Given the description of an element on the screen output the (x, y) to click on. 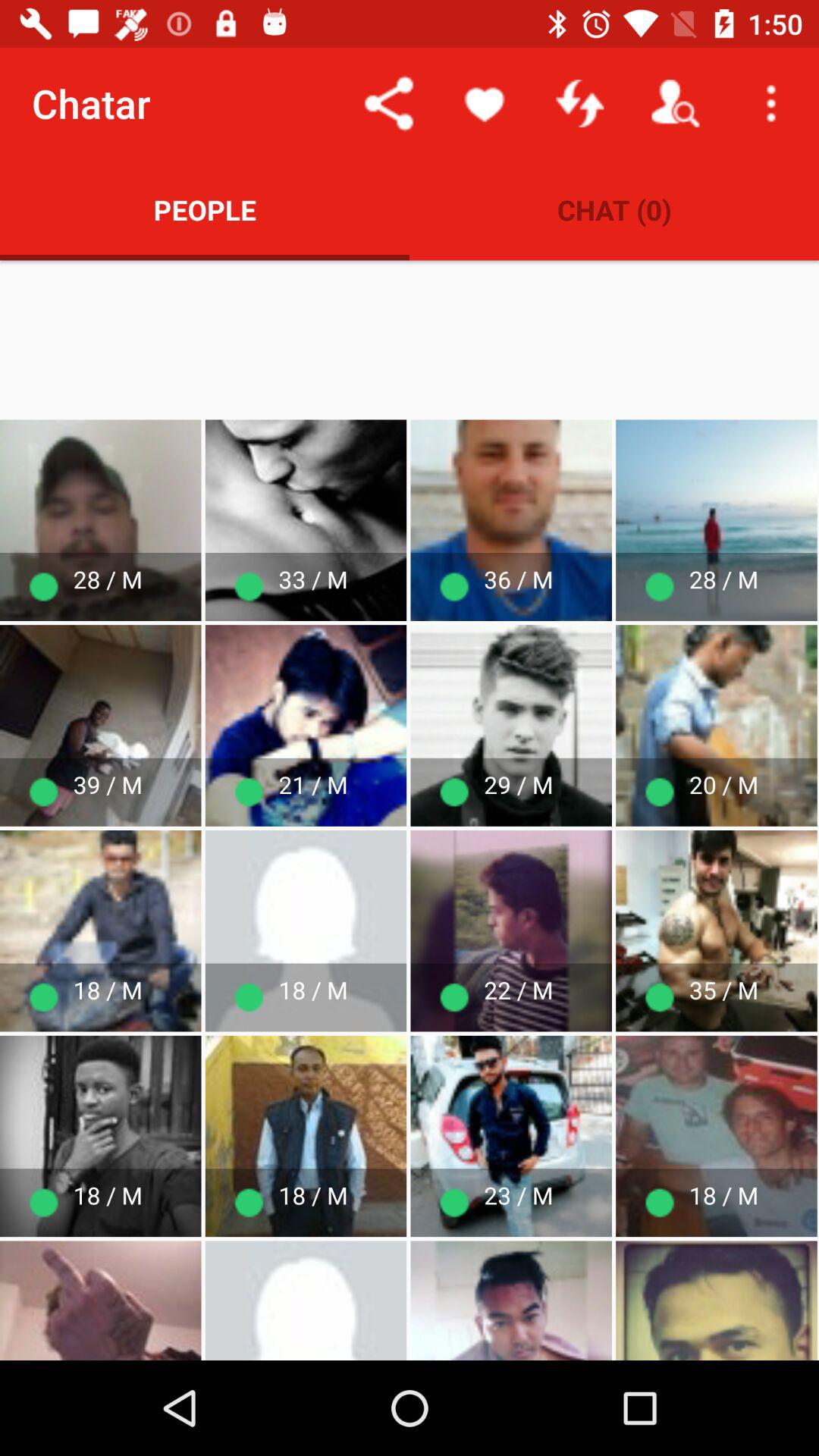
click on favorite icon (484, 103)
go to fourth column third row image (511, 1135)
click on the first image in first row from right side (716, 520)
click on the third image in the third column from left side (511, 930)
